Given the description of an element on the screen output the (x, y) to click on. 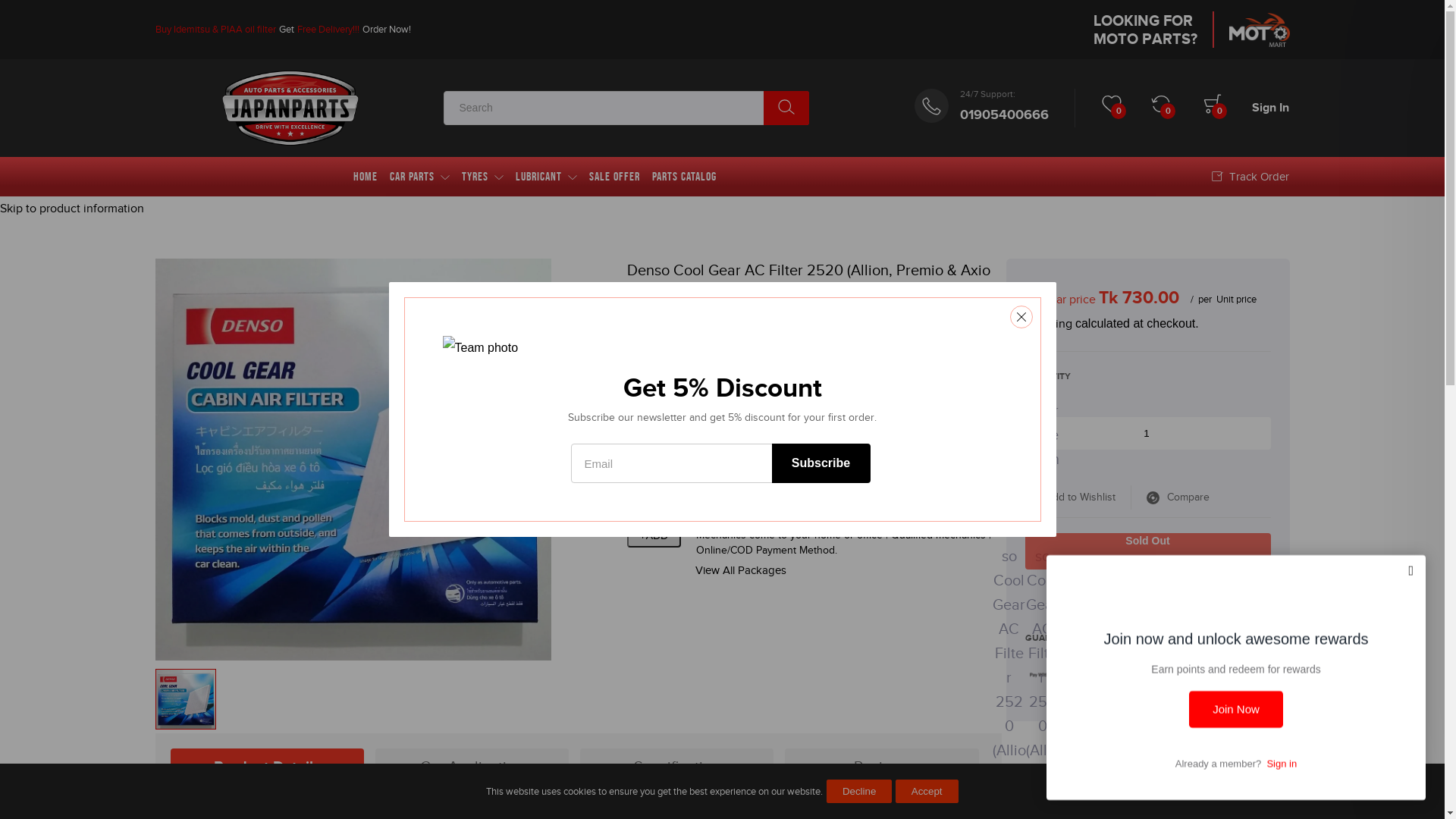
0 Element type: text (1213, 108)
Track Order Element type: text (1250, 176)
Skip to product information Element type: text (72, 208)
LOOKING FOR
MOTO PARTS? Element type: text (1191, 29)
01905400666 Element type: text (1004, 114)
TOP Element type: text (1399, 735)
Shipping Element type: text (1048, 323)
0 Element type: text (1162, 108)
Compare Element type: text (1177, 497)
Parts Catalog Element type: text (684, 176)
Product Details Element type: text (266, 766)
Subscribe Element type: text (820, 463)
Sale Offer Element type: text (614, 176)
View All Packages Element type: text (810, 570)
Tyres Element type: text (482, 176)
Specification Element type: text (676, 766)
Sold Out Element type: text (1147, 551)
Sign In Element type: text (1270, 107)
Lubricant Element type: text (546, 176)
HOME Element type: text (365, 176)
Add to Wishlist Element type: text (1078, 497)
0 Element type: text (1112, 108)
Car Application Element type: text (471, 766)
+ADD Element type: text (653, 535)
Accept Element type: text (926, 791)
CAR PARTS Element type: text (419, 176)
Decline Element type: text (858, 791)
Reviews Element type: text (881, 766)
